Given the description of an element on the screen output the (x, y) to click on. 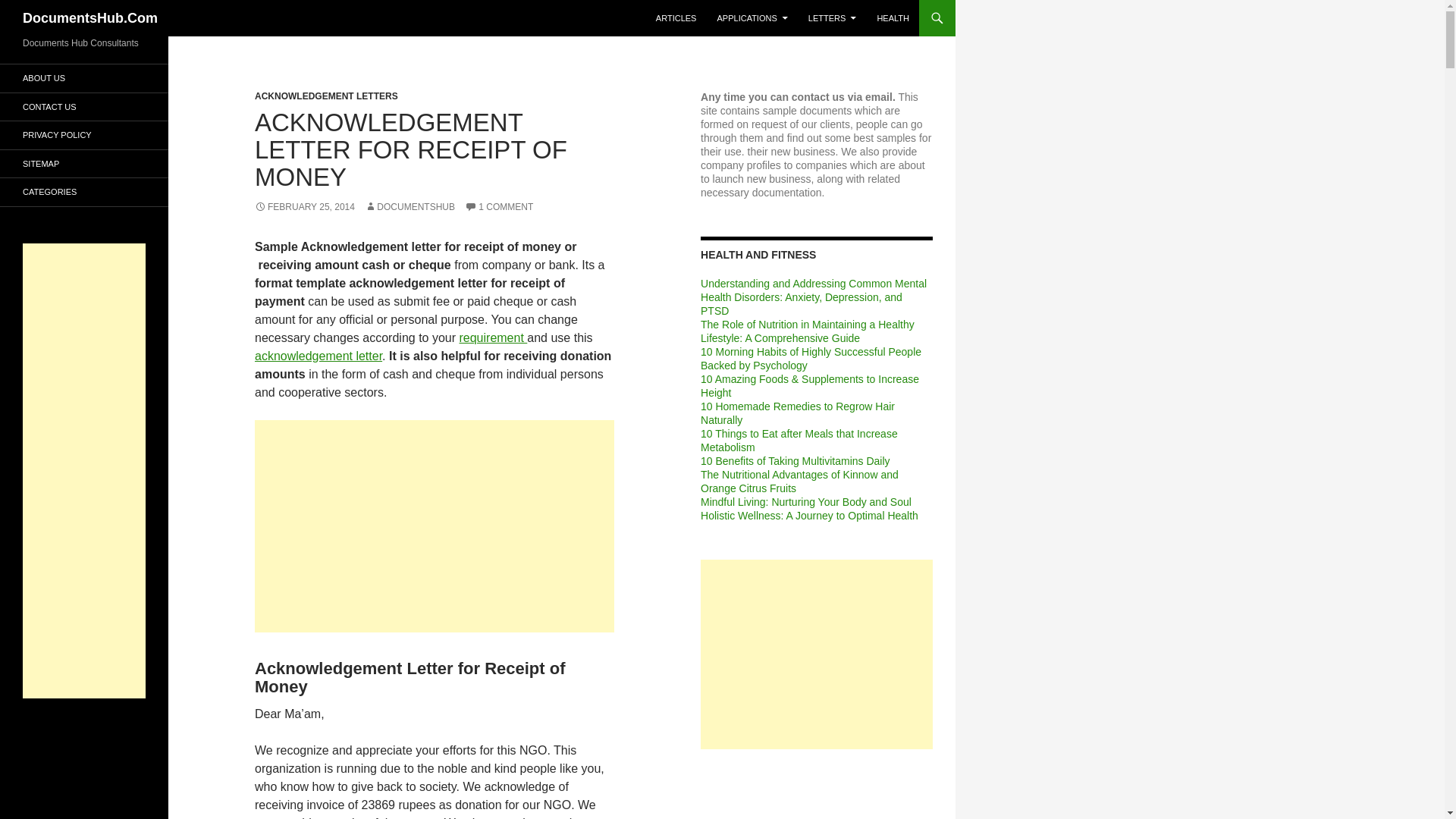
DOCUMENTSHUB (409, 206)
DocumentsHub.Com (90, 18)
1 COMMENT (498, 206)
ACKNOWLEDGEMENT LETTERS (325, 95)
LETTERS (832, 18)
Acknowledgement Letter of Expenditures (317, 355)
Advertisement (434, 526)
HEALTH (892, 18)
acknowledgement letter (317, 355)
FEBRUARY 25, 2014 (304, 206)
Experience Letter for Accounts Assistant (492, 337)
Advertisement (816, 654)
APPLICATIONS (751, 18)
ARTICLES (676, 18)
requirement (492, 337)
